Given the description of an element on the screen output the (x, y) to click on. 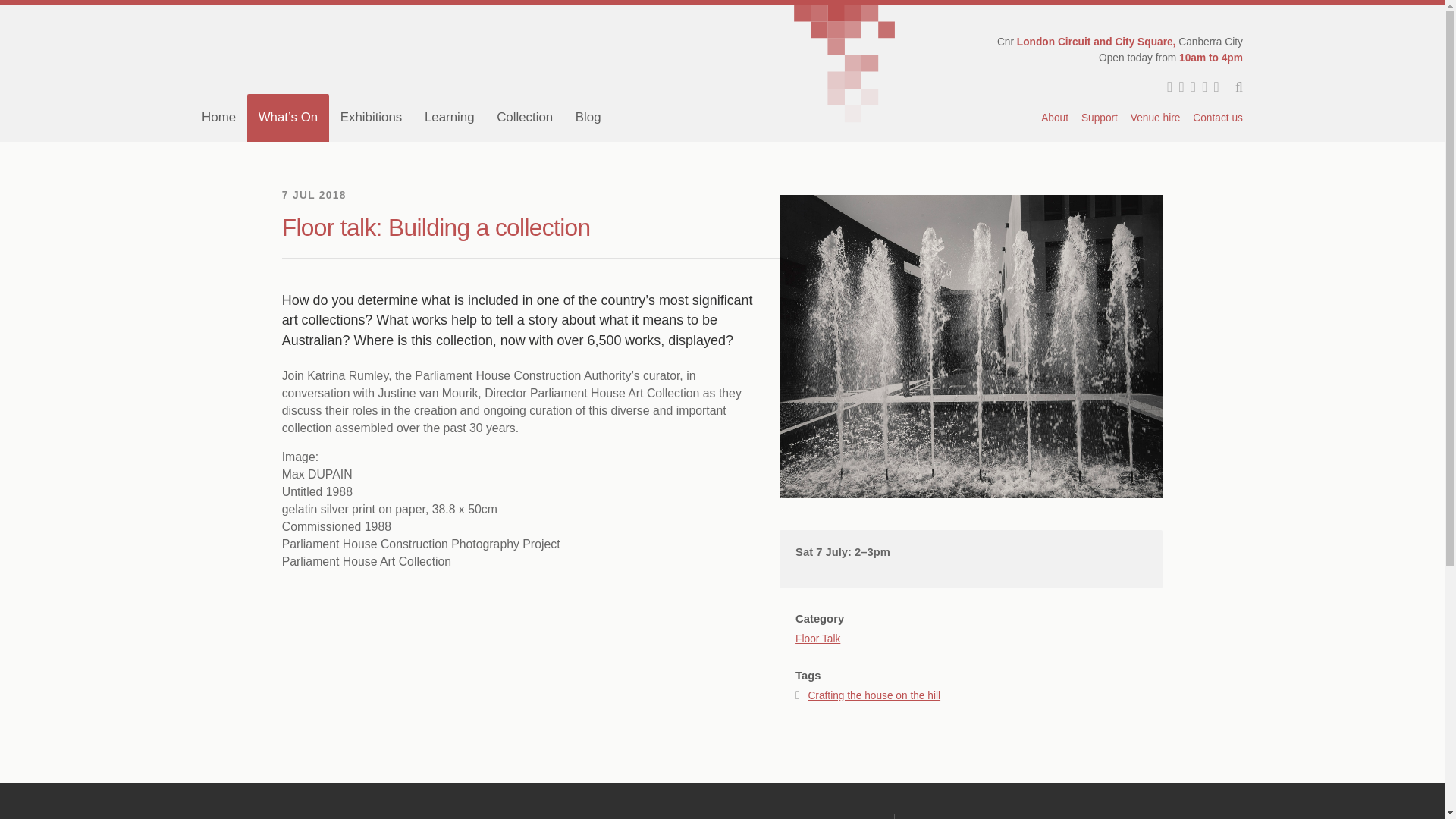
Blog (587, 117)
Crafting the house on the hill (874, 695)
Exhibitions (371, 117)
Learning (448, 117)
Search Canberra Museum and Gallery (1231, 87)
About (1055, 118)
Canberra Museum and Gallery (433, 48)
Home (218, 117)
Support (1099, 118)
Contact us (1214, 118)
